Given the description of an element on the screen output the (x, y) to click on. 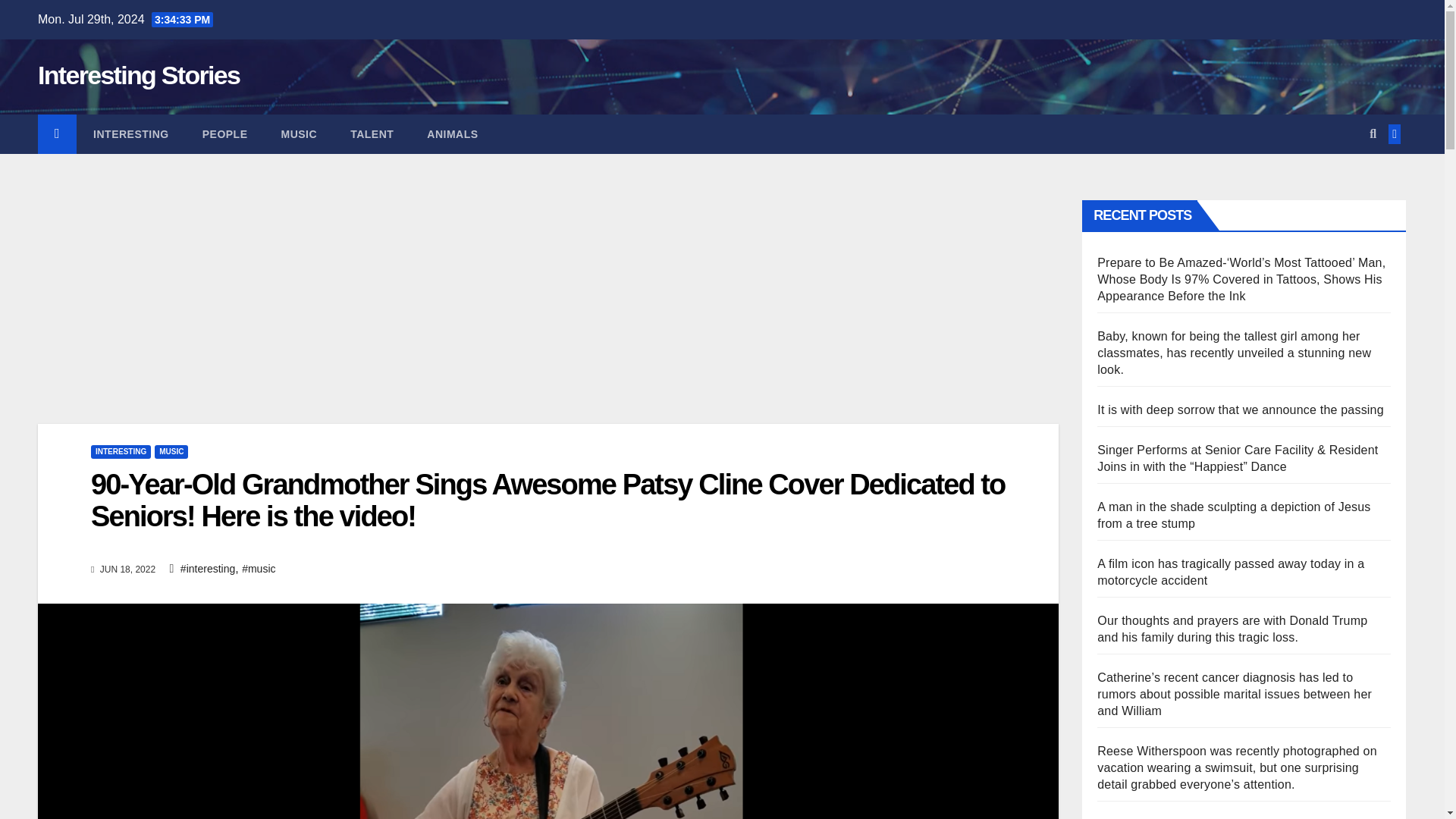
Interesting (131, 133)
ANIMALS (452, 133)
Talent (371, 133)
Music (298, 133)
People (225, 133)
MUSIC (170, 451)
INTERESTING (120, 451)
It is with deep sorrow that we announce the passing (1240, 409)
Interesting Stories (138, 74)
MUSIC (298, 133)
Animals (452, 133)
